Given the description of an element on the screen output the (x, y) to click on. 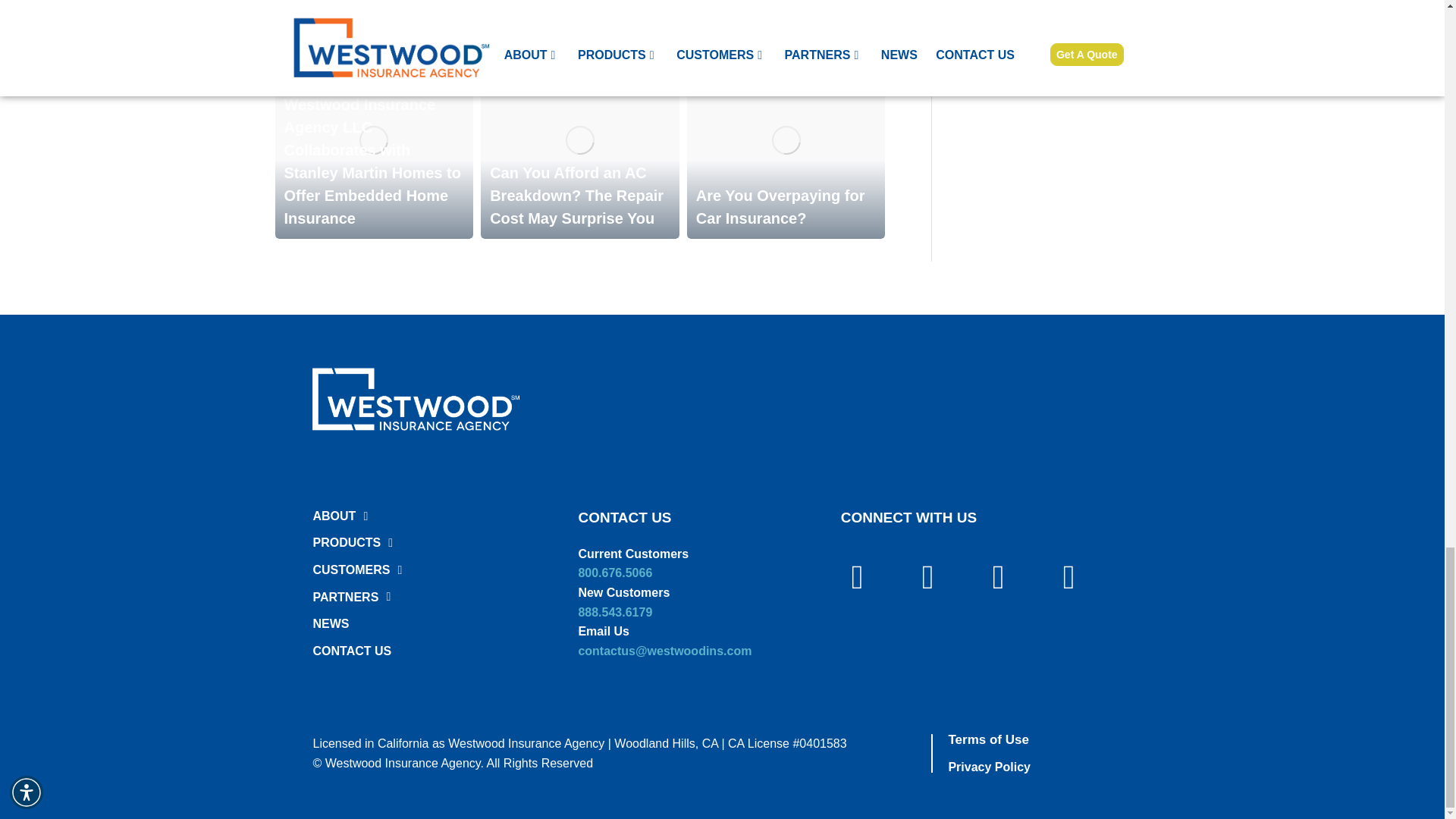
Are You Overpaying for Car Insurance? (779, 206)
